Given the description of an element on the screen output the (x, y) to click on. 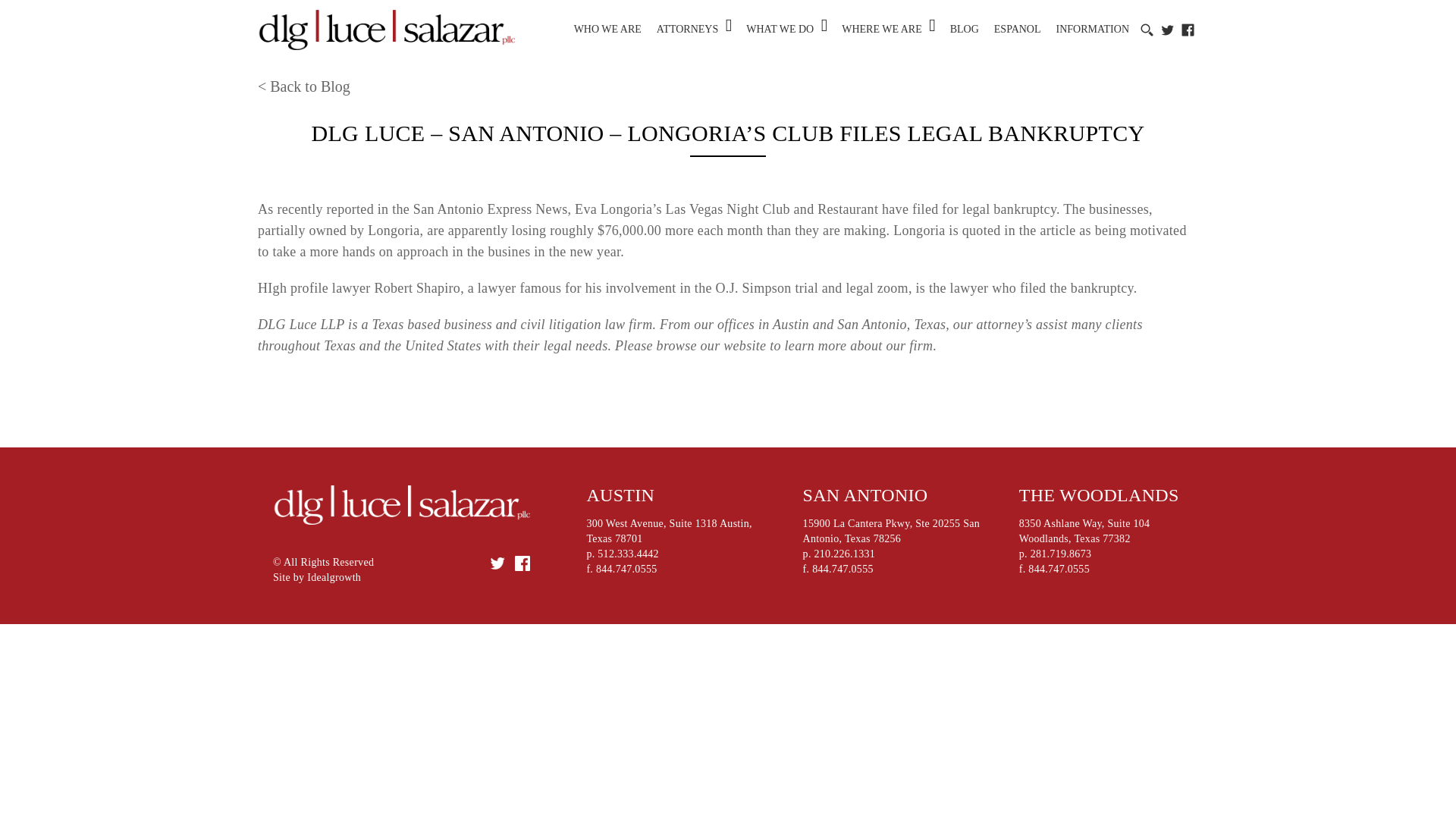
WHAT WE DO (779, 29)
WHO WE ARE (607, 29)
BLOG (964, 29)
ATTORNEYS (686, 29)
ESPANOL (1017, 29)
INFORMATION (1093, 29)
WHERE WE ARE (881, 29)
